Given the description of an element on the screen output the (x, y) to click on. 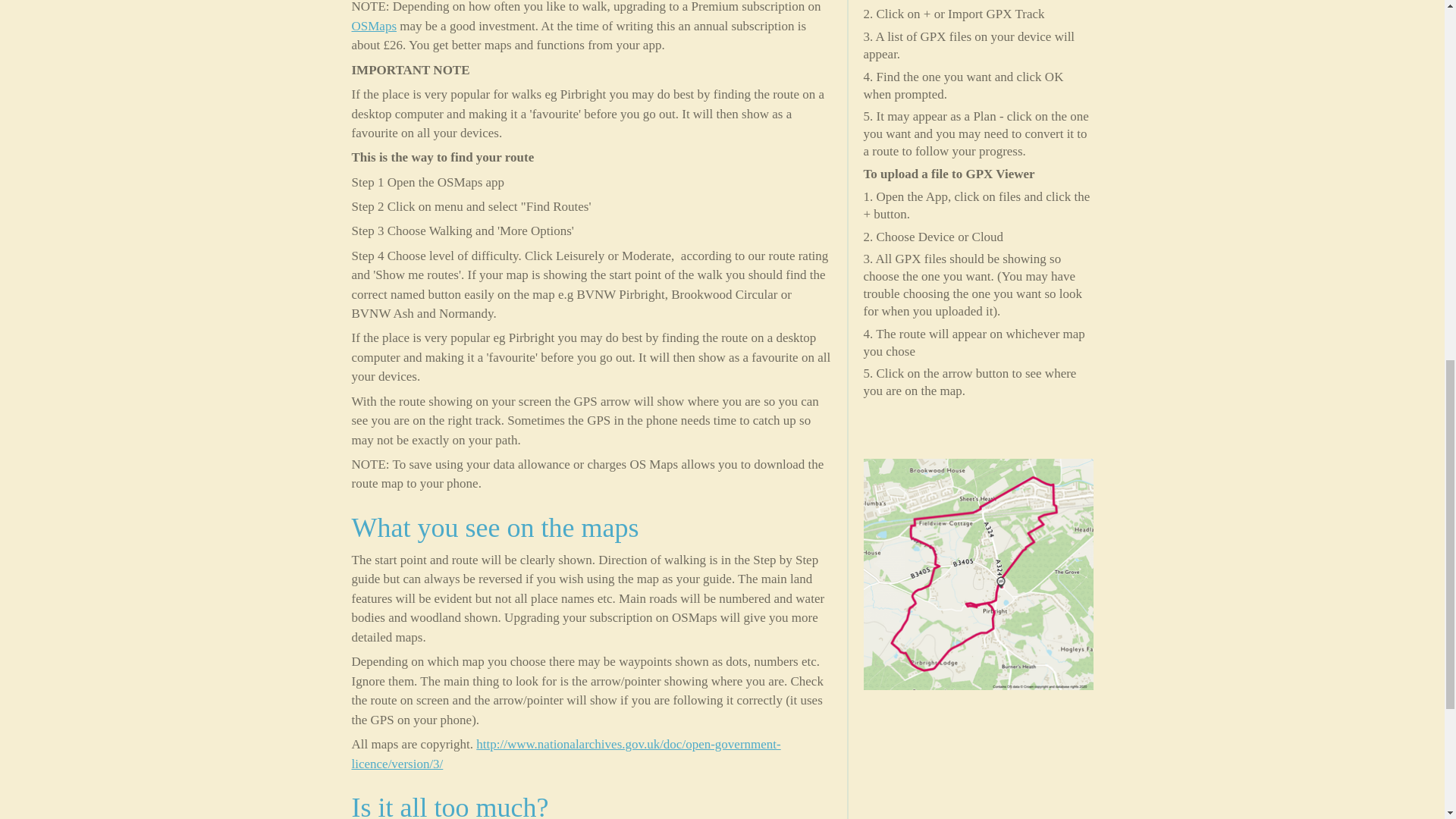
OSMaps (374, 25)
